Given the description of an element on the screen output the (x, y) to click on. 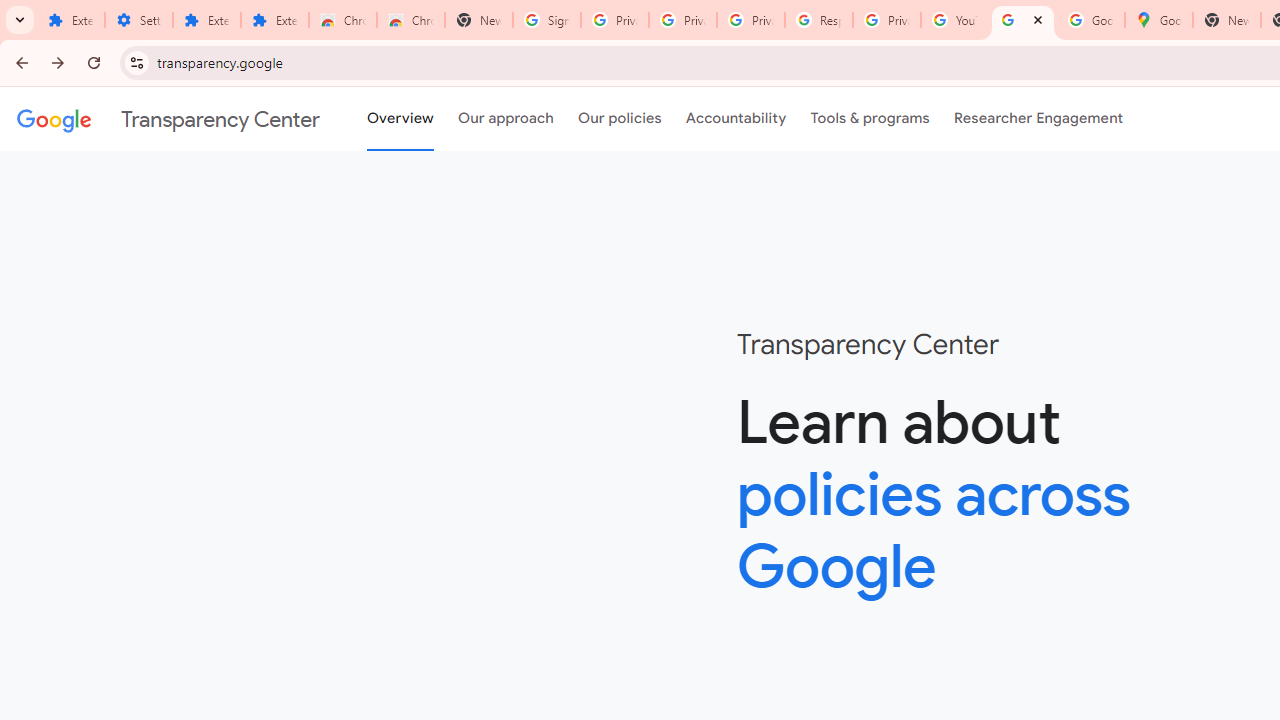
Sign in - Google Accounts (547, 20)
Chrome Web Store - Themes (411, 20)
